Given the description of an element on the screen output the (x, y) to click on. 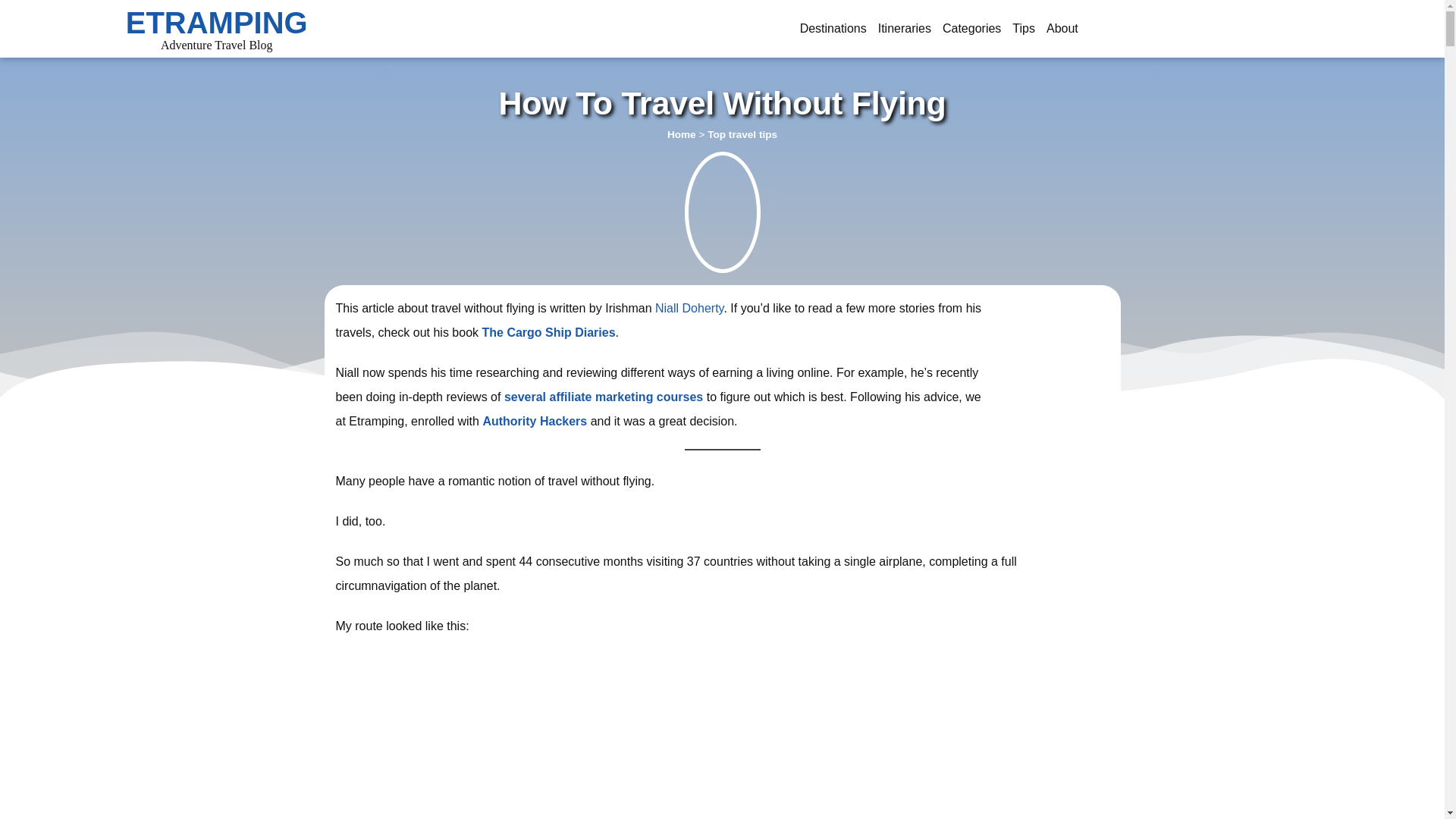
Categories (971, 28)
Itineraries (904, 28)
Niall Doherty headshot (1059, 357)
Destinations (832, 28)
ETRAMPING (216, 22)
